Given the description of an element on the screen output the (x, y) to click on. 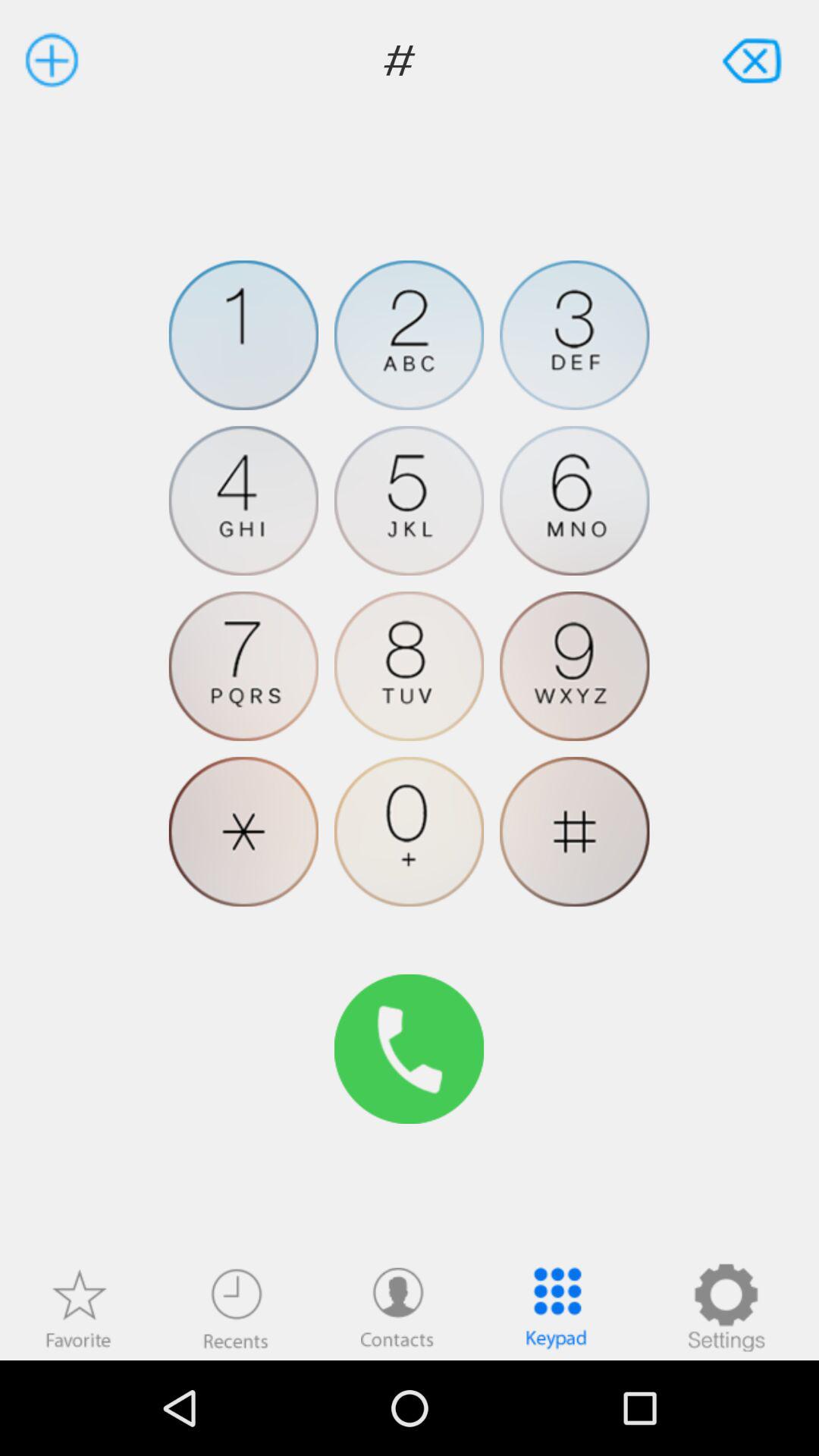
open-close the keypad (556, 1307)
